Given the description of an element on the screen output the (x, y) to click on. 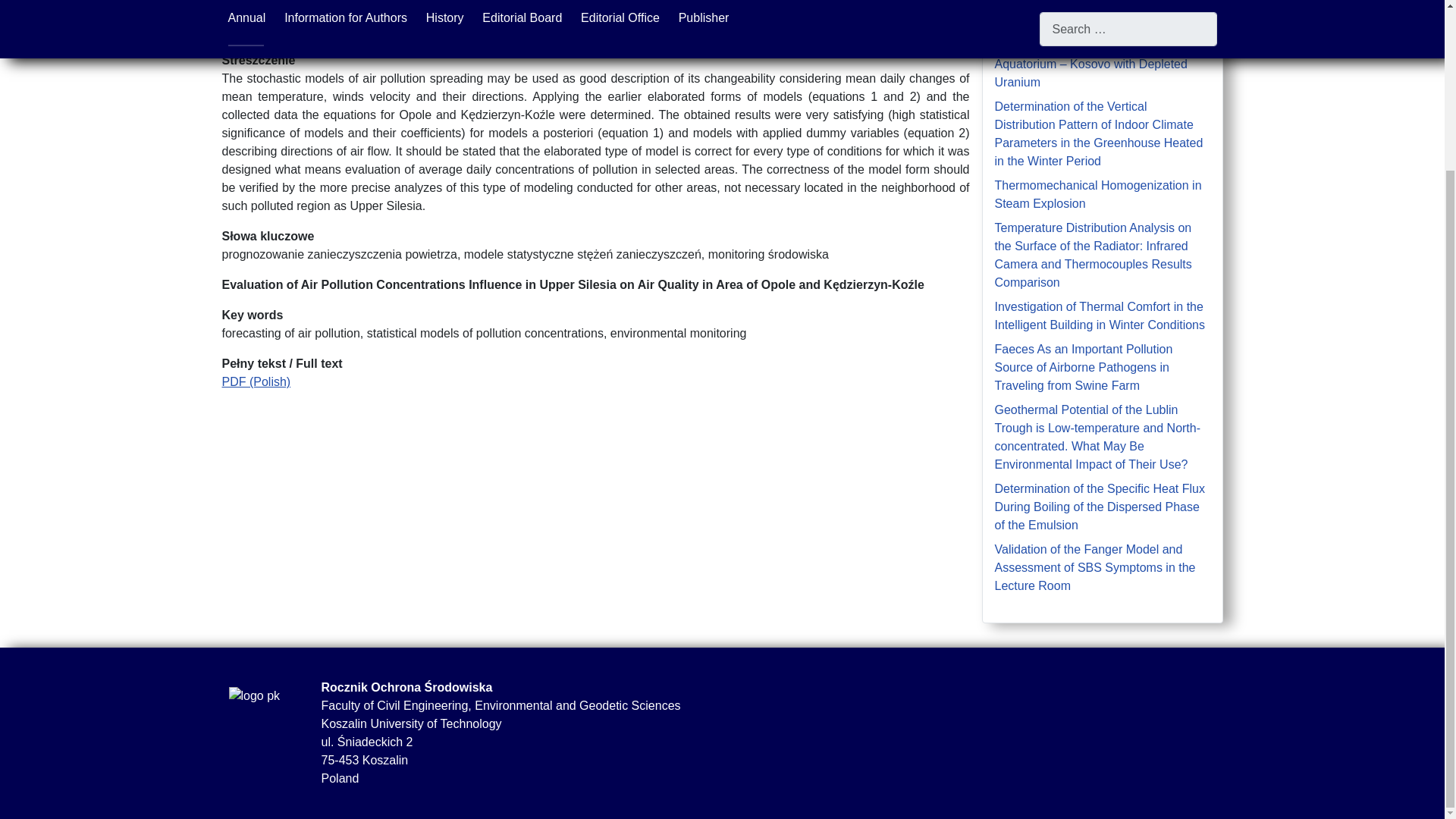
Thermomechanical Homogenization in Steam Explosion (1098, 194)
